Given the description of an element on the screen output the (x, y) to click on. 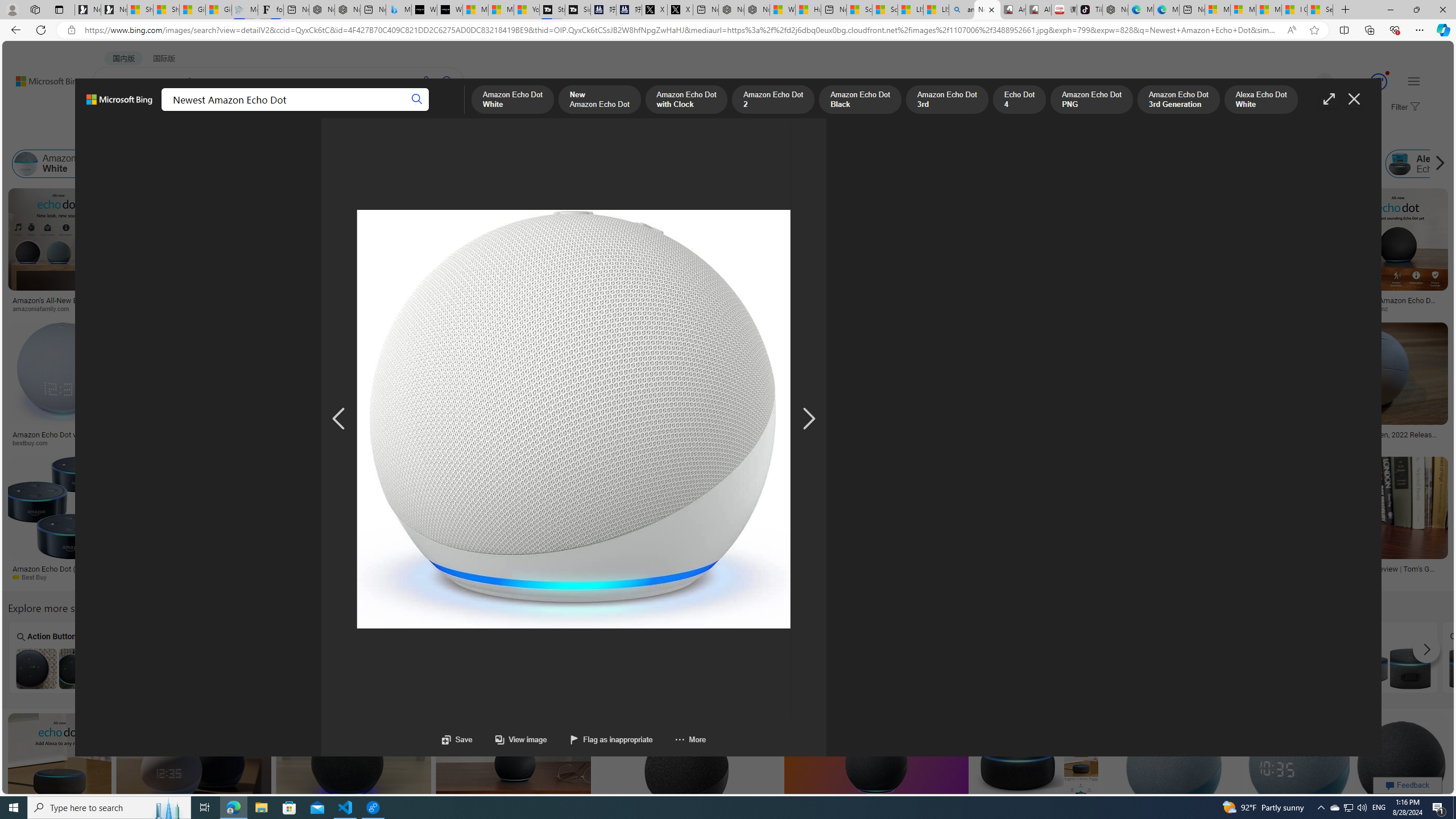
MAPS (397, 111)
au.pcmag.com (1371, 442)
ACADEMIC (311, 111)
Amazon Echo Dot PNG (833, 163)
INQUIRER.net (542, 442)
Dropdown Menu (443, 111)
eftm.com (301, 442)
Amazon Echo Dot 3rd (627, 163)
View image (521, 739)
Layout (252, 135)
